Given the description of an element on the screen output the (x, y) to click on. 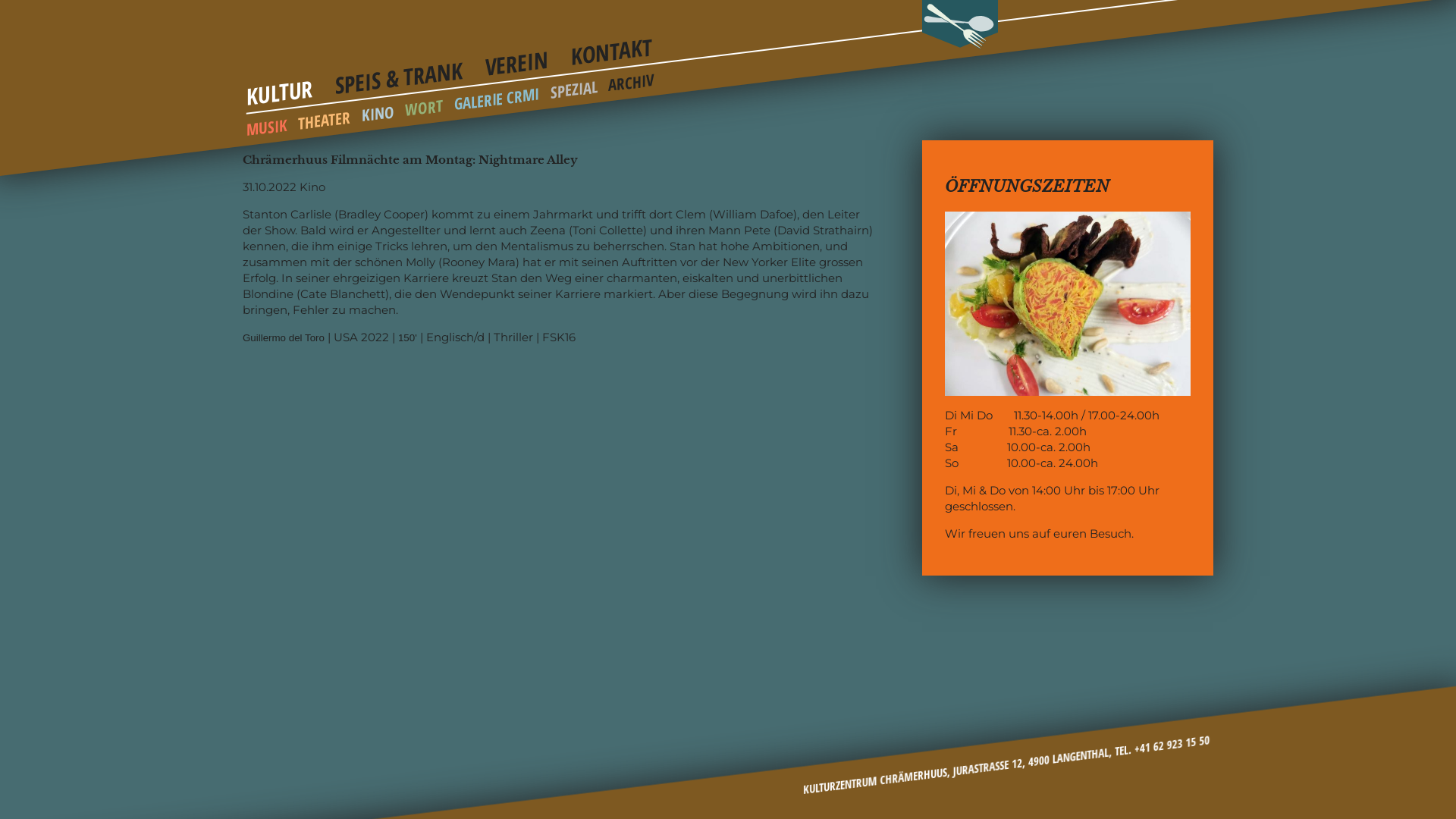
SPEIS & TRANK Element type: text (399, 69)
ARCHIV Element type: text (631, 79)
Vorverkauf Element type: text (1190, 774)
KULTUR Element type: text (279, 87)
KINO Element type: text (377, 111)
GALERIE CRMI Element type: text (496, 93)
VEREIN Element type: text (516, 59)
WORT Element type: text (423, 105)
KONTAKT Element type: text (611, 46)
MUSIK Element type: text (266, 124)
SPEZIAL Element type: text (573, 86)
THEATER Element type: text (324, 117)
Facebook Element type: text (1144, 780)
